Given the description of an element on the screen output the (x, y) to click on. 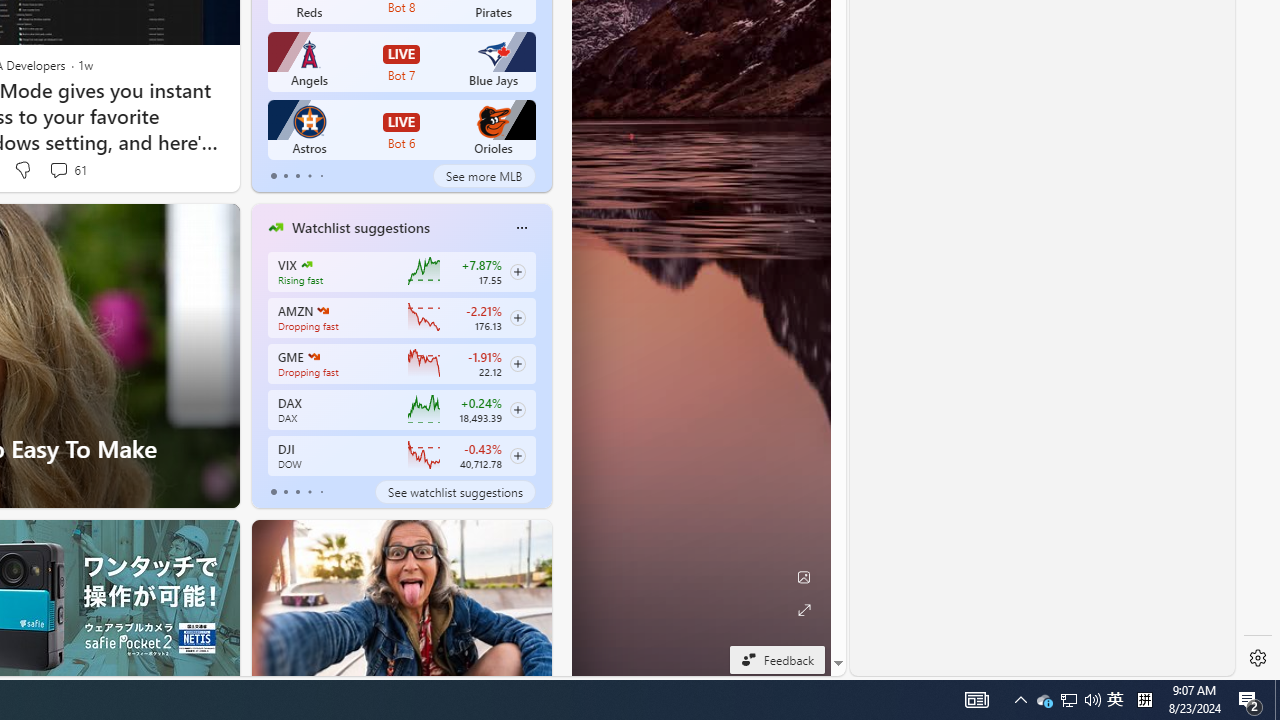
See watchlist suggestions (454, 491)
tab-3 (309, 491)
tab-1 (285, 491)
View comments 61 Comment (66, 170)
See more MLB (484, 175)
Astros LIVE Bot 6 Orioles (401, 129)
Angels LIVE Bot 7 Blue Jays (401, 61)
